Given the description of an element on the screen output the (x, y) to click on. 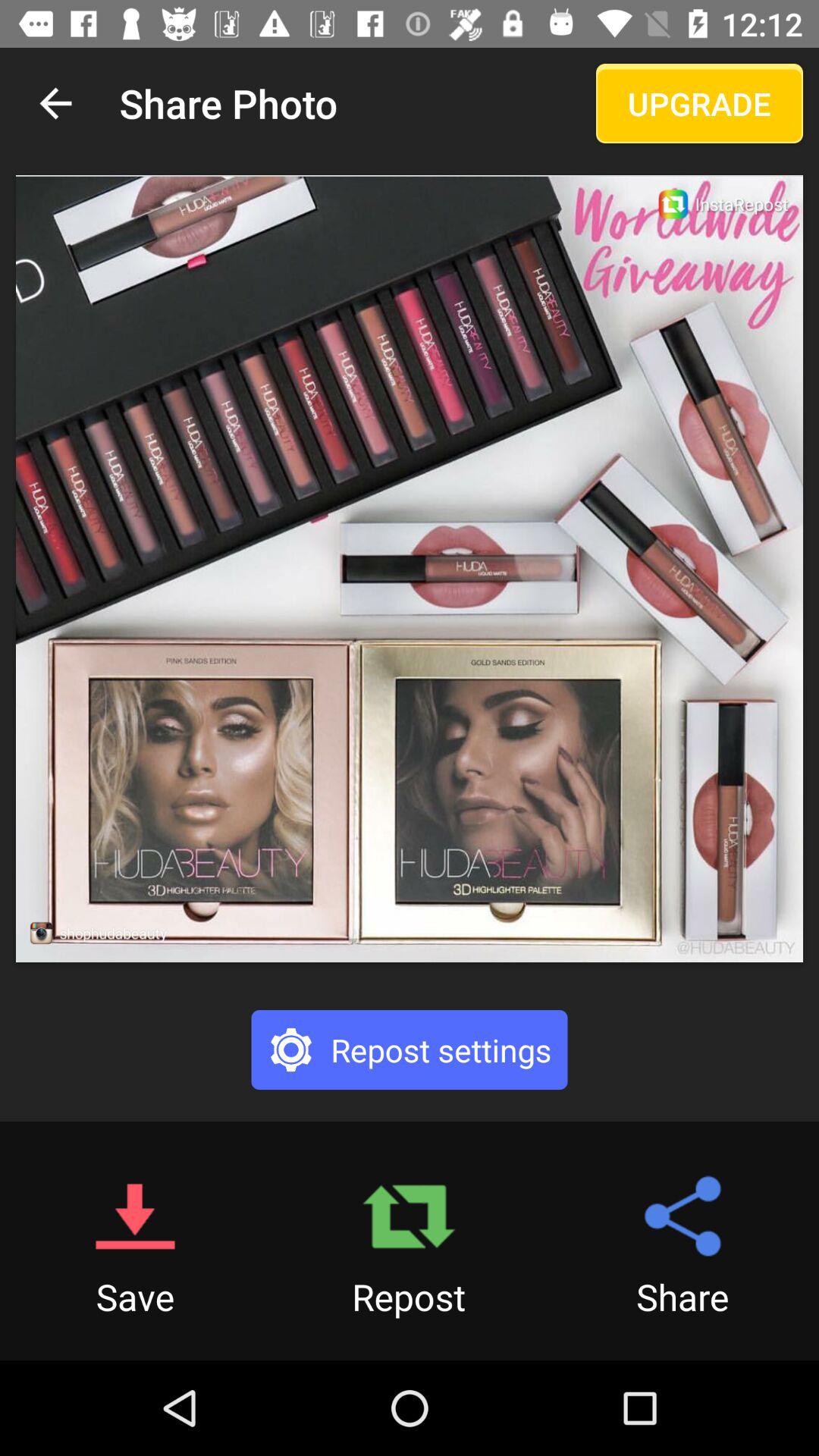
launch the upgrade at the top right corner (699, 103)
